Given the description of an element on the screen output the (x, y) to click on. 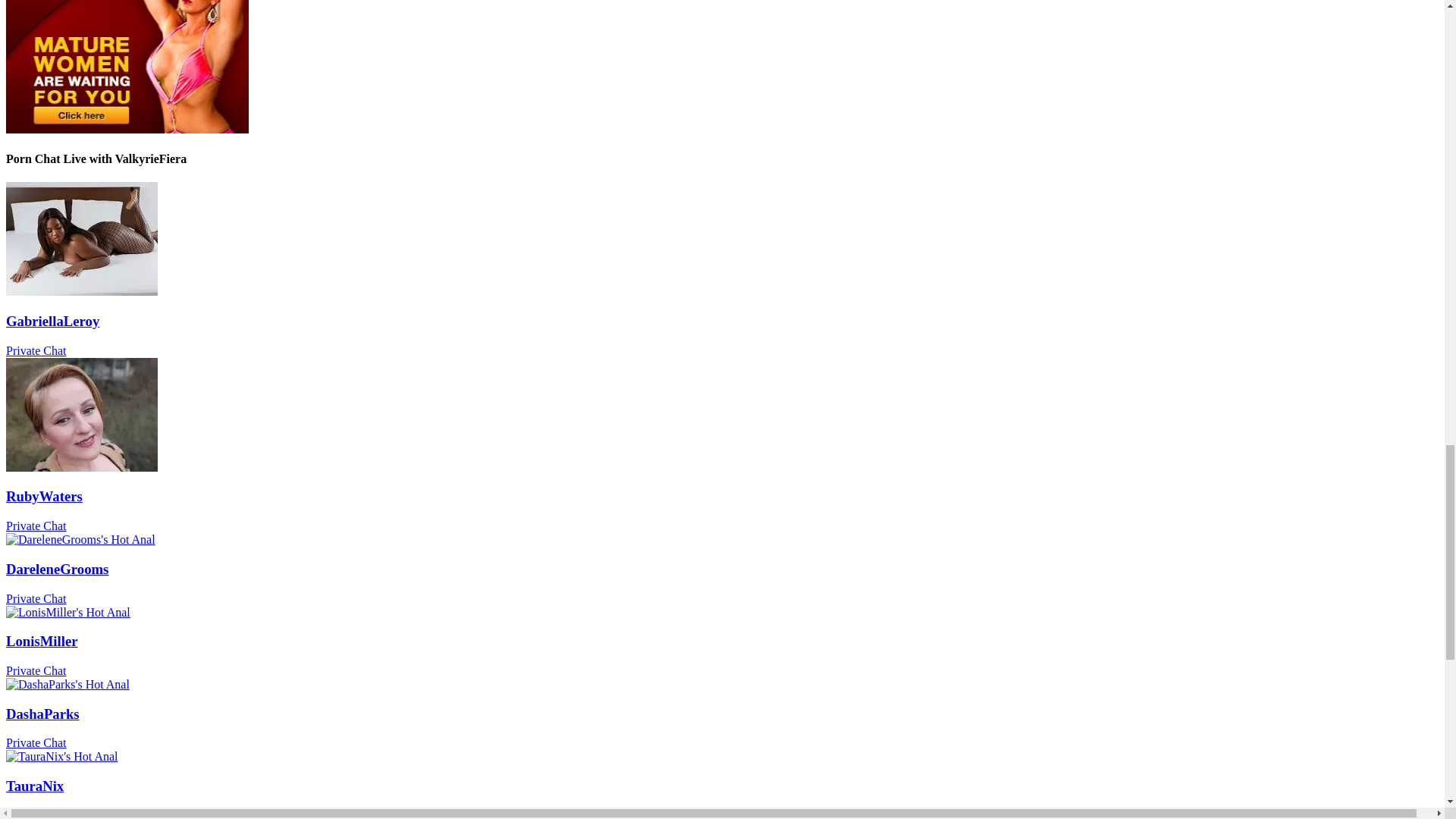
GabriellaLeroy's Hot Anal (81, 291)
LonisMiller's Hot Anal (68, 612)
GabriellaLeroy's Hot Anal (721, 334)
RubyWaters's Hot Anal (721, 510)
DareleneGrooms's Hot Anal (81, 467)
DareleneGrooms's Hot Anal (721, 798)
RubyWaters's Hot Anal (721, 727)
